Given the description of an element on the screen output the (x, y) to click on. 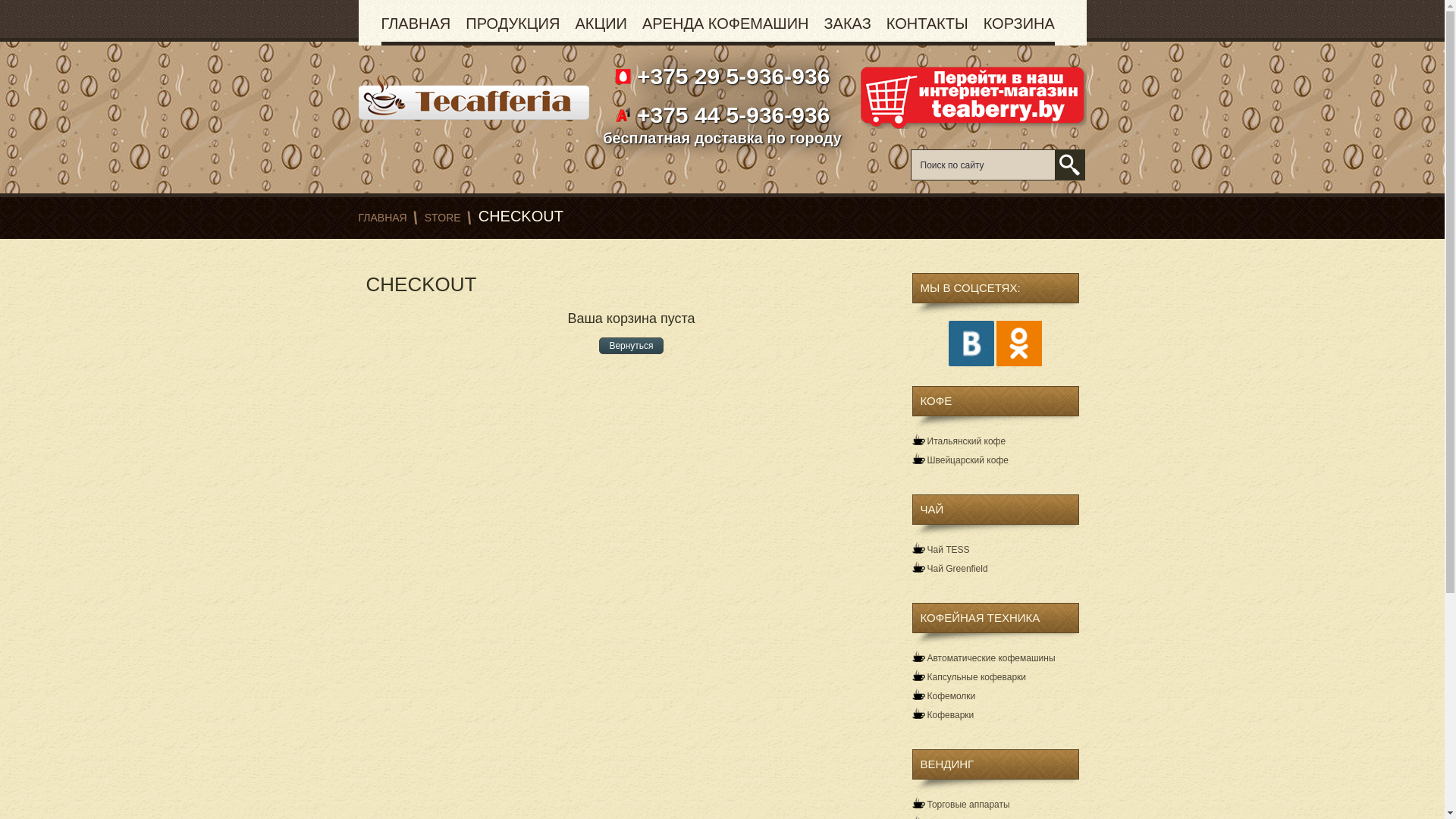
+375 44 5-936-936 Element type: text (730, 114)
+375 29 5-936-936 Element type: text (730, 75)
STORE Element type: text (442, 217)
